Given the description of an element on the screen output the (x, y) to click on. 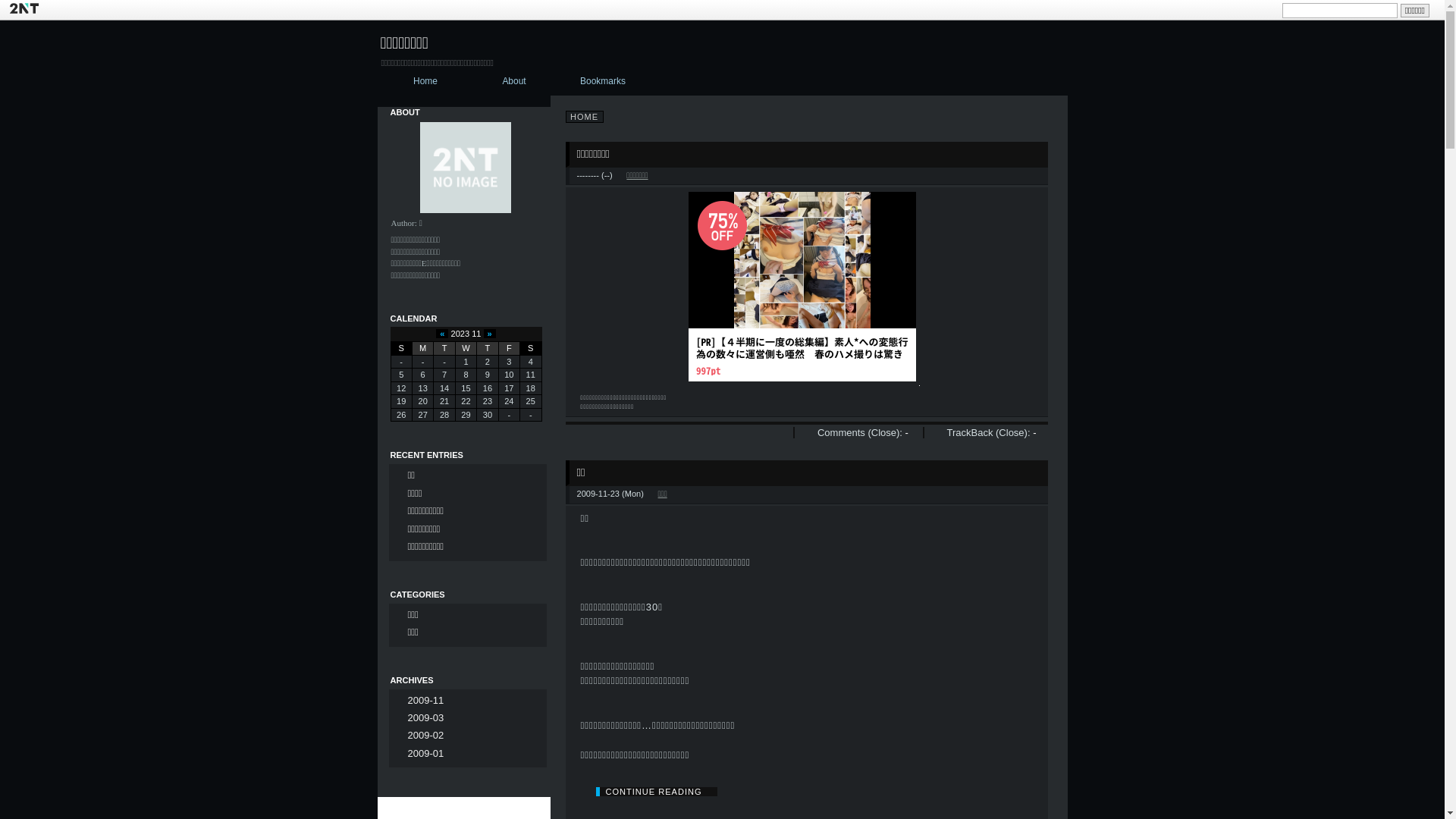
Bookmarks Element type: text (602, 82)
About Element type: text (513, 82)
2009-01 Element type: text (419, 753)
2009-11 Element type: text (419, 700)
Home Element type: text (425, 82)
CONTINUE READING Element type: text (656, 791)
HOME Element type: text (584, 116)
2009-02 Element type: text (419, 734)
2009-03 Element type: text (419, 717)
